Given the description of an element on the screen output the (x, y) to click on. 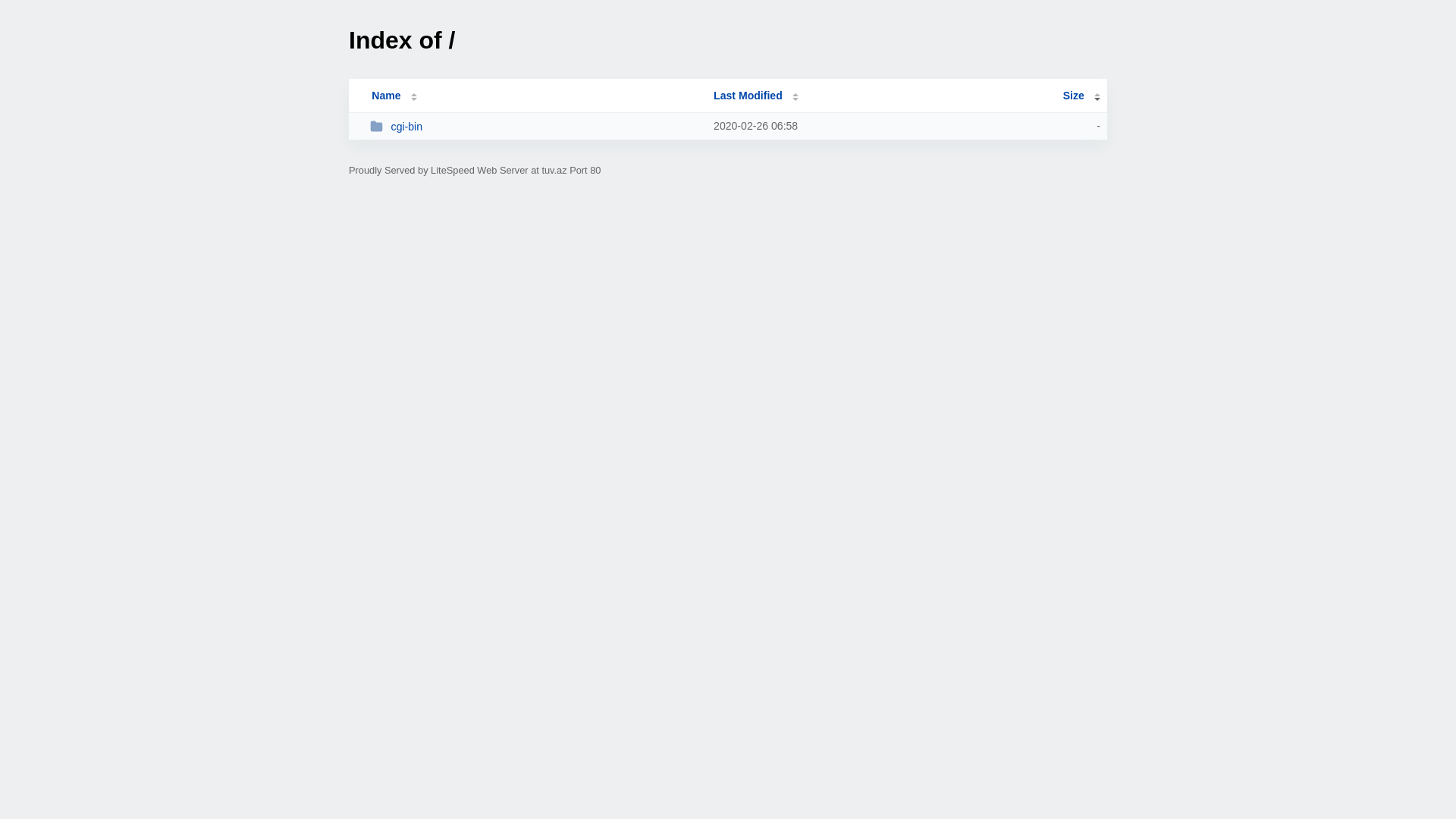
Name Element type: text (385, 95)
Size Element type: text (1081, 95)
Last Modified Element type: text (755, 95)
cgi-bin Element type: text (534, 125)
